Given the description of an element on the screen output the (x, y) to click on. 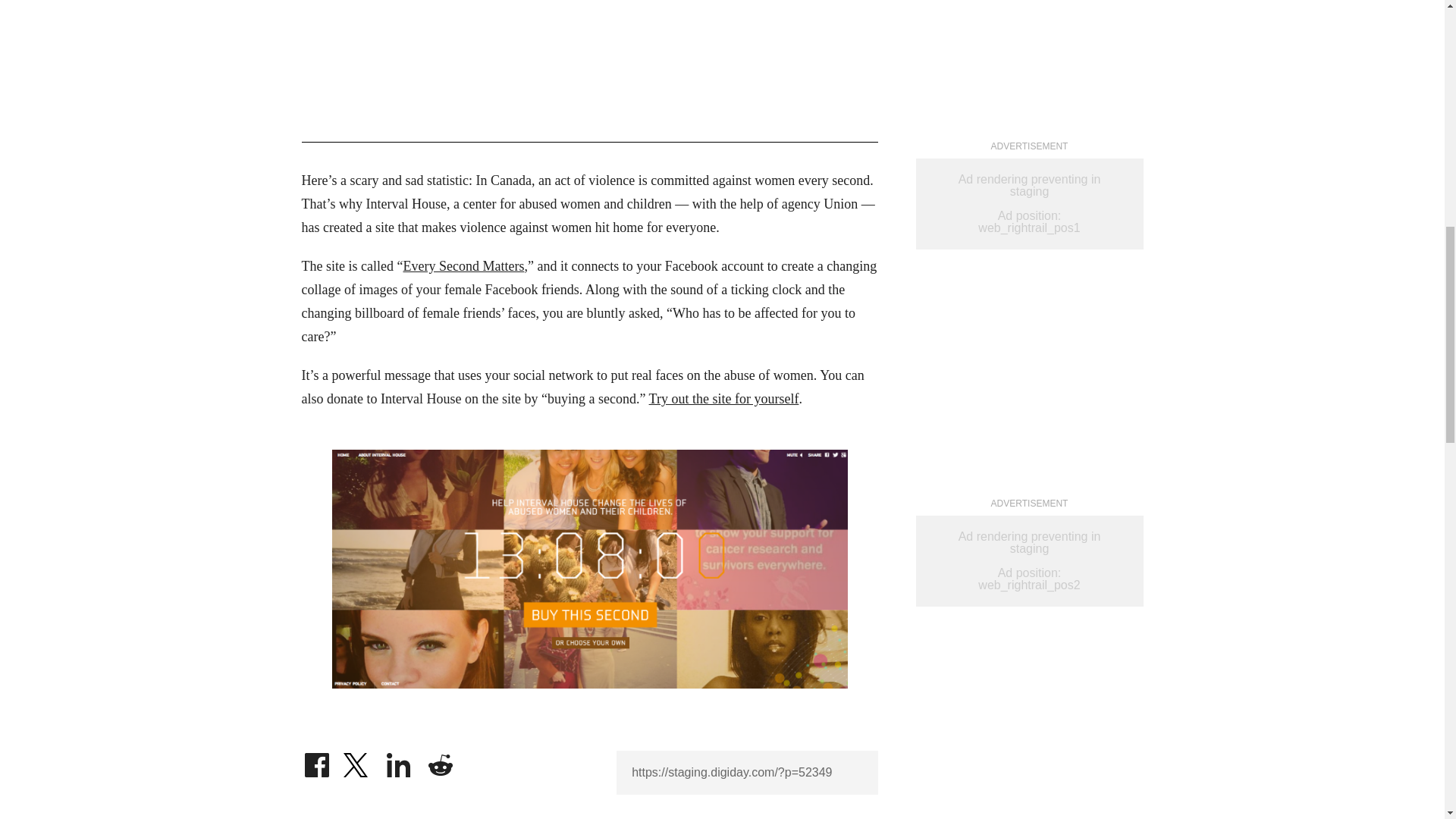
Share on Reddit (440, 761)
Share on LinkedIn (398, 761)
Share on Twitter (357, 761)
Share on Facebook (316, 761)
